Given the description of an element on the screen output the (x, y) to click on. 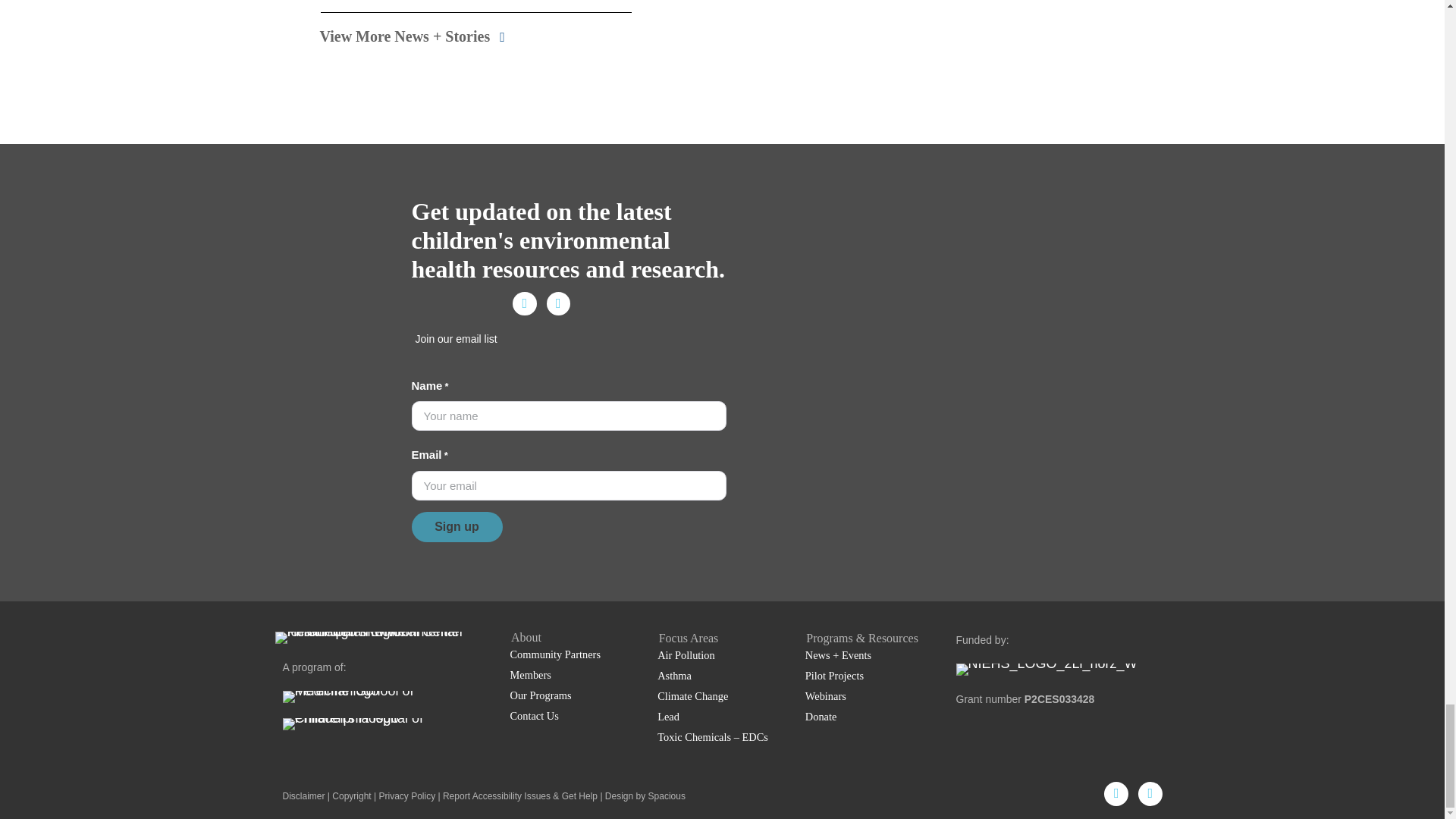
Sign up (456, 526)
